Given the description of an element on the screen output the (x, y) to click on. 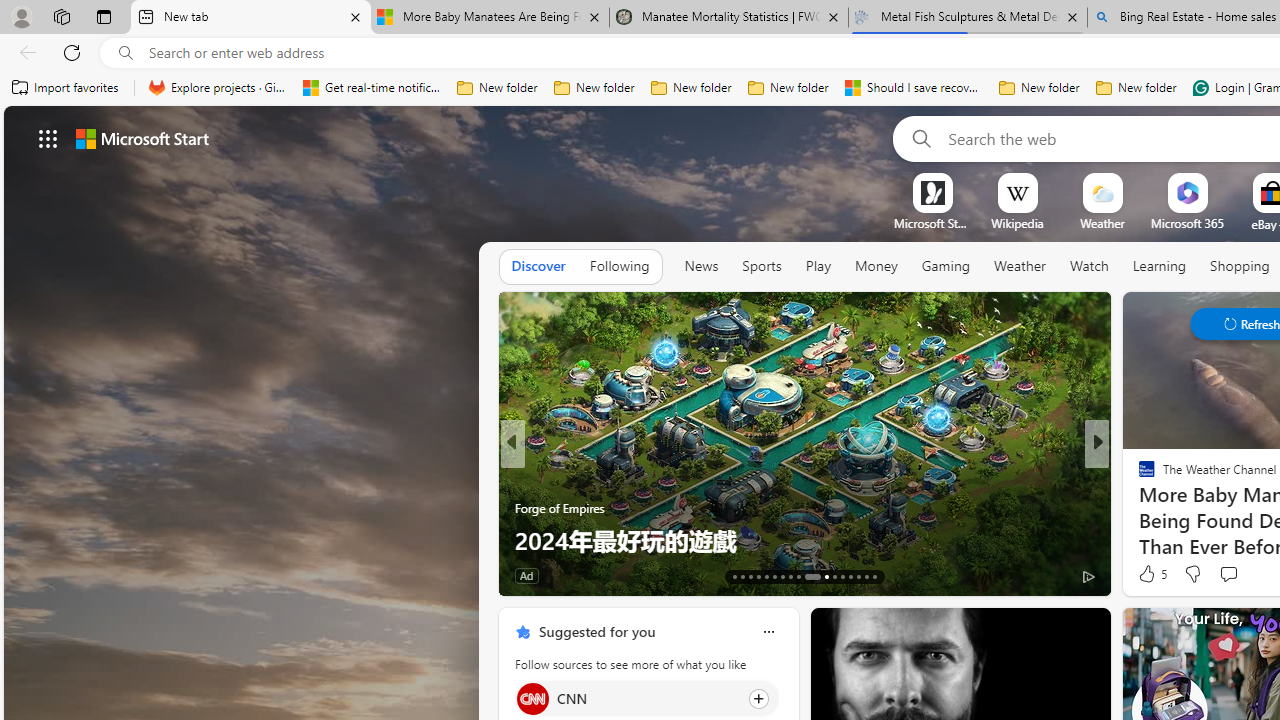
Watch (1089, 265)
To get missing image descriptions, open the context menu. (932, 192)
View comments 5 Comment (1241, 574)
View comments 247 Comment (11, 575)
Discover (538, 267)
Gaming (945, 267)
Dislike (1191, 574)
AutomationID: tab-24 (833, 576)
Wikipedia (1017, 223)
Learning (1159, 265)
Sports (761, 265)
Ad (1142, 575)
CNBC (1138, 475)
